Given the description of an element on the screen output the (x, y) to click on. 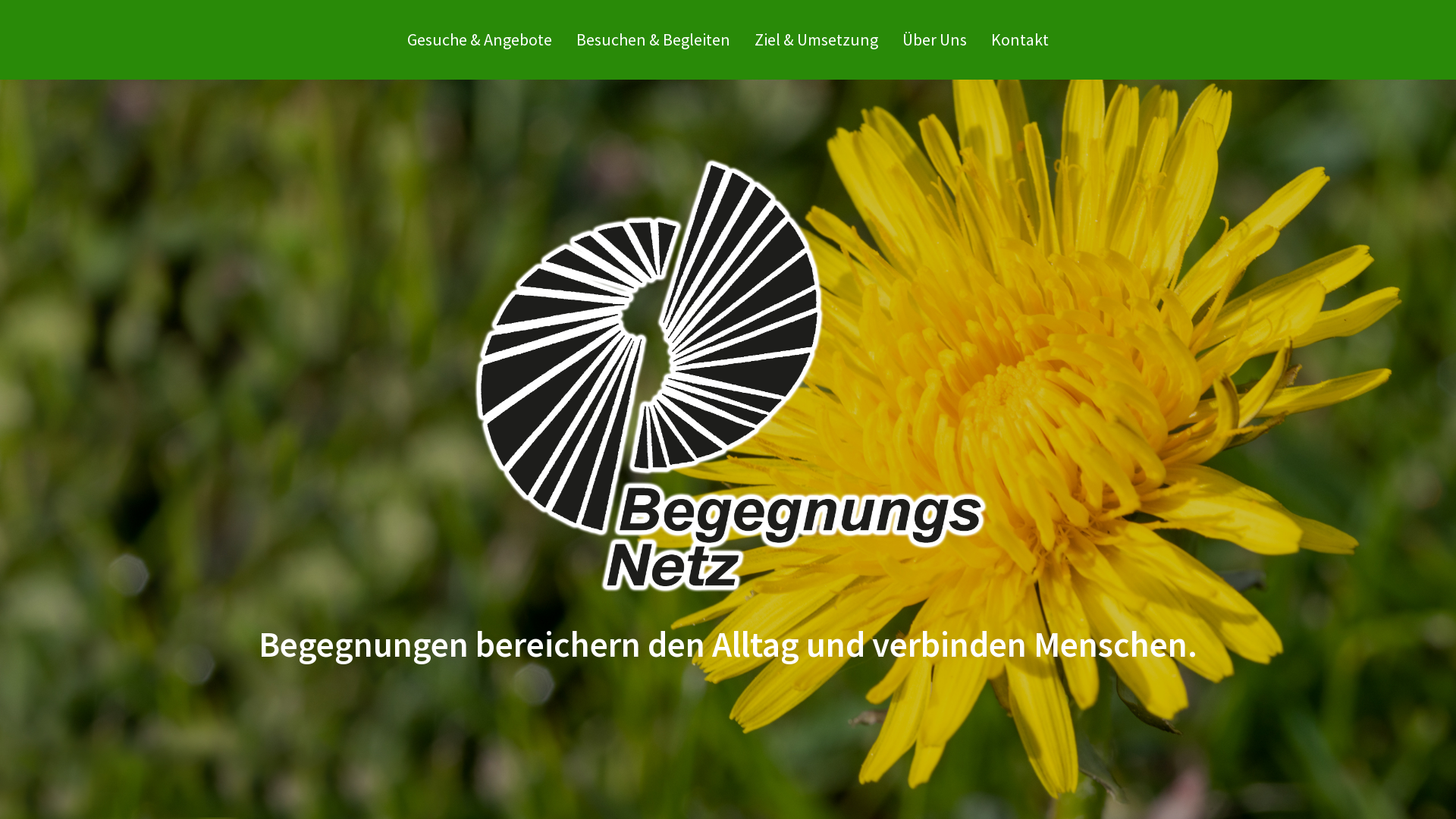
Ziel & Umsetzung Element type: text (816, 39)
  Element type: text (1060, 14)
Gesuche & Angebote Element type: text (479, 39)
Kontakt Element type: text (1019, 39)
Besuchen & Begleiten Element type: text (653, 39)
